Given the description of an element on the screen output the (x, y) to click on. 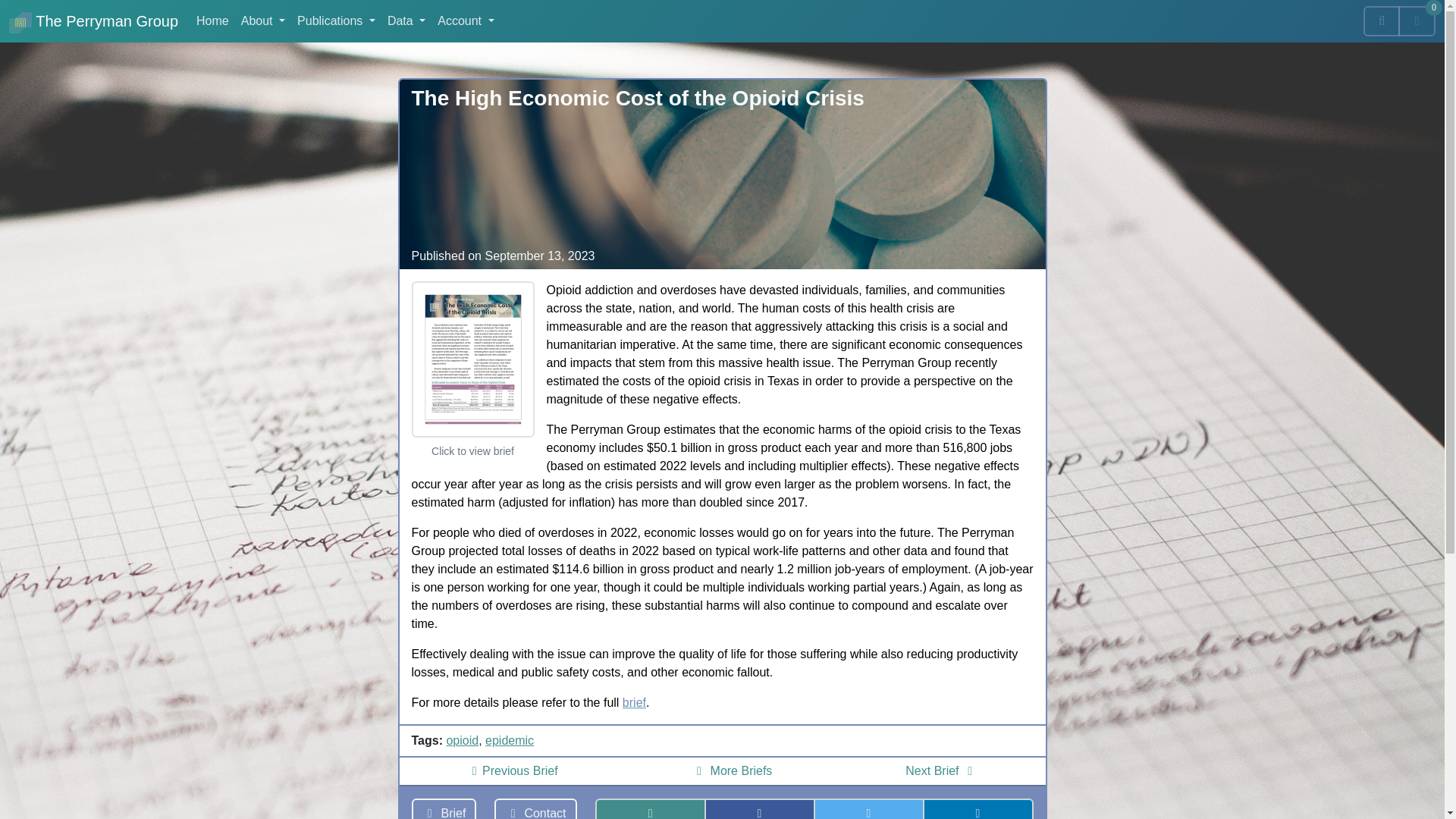
Account (464, 20)
brief (634, 702)
Home (212, 20)
epidemic (509, 739)
The Perryman Group (92, 20)
Brief (443, 808)
Previous Brief (511, 770)
Data (405, 20)
Publications (336, 20)
More Briefs (732, 770)
0 (1416, 20)
Click to view brief (472, 406)
About (262, 20)
Contact (535, 808)
opioid (462, 739)
